Given the description of an element on the screen output the (x, y) to click on. 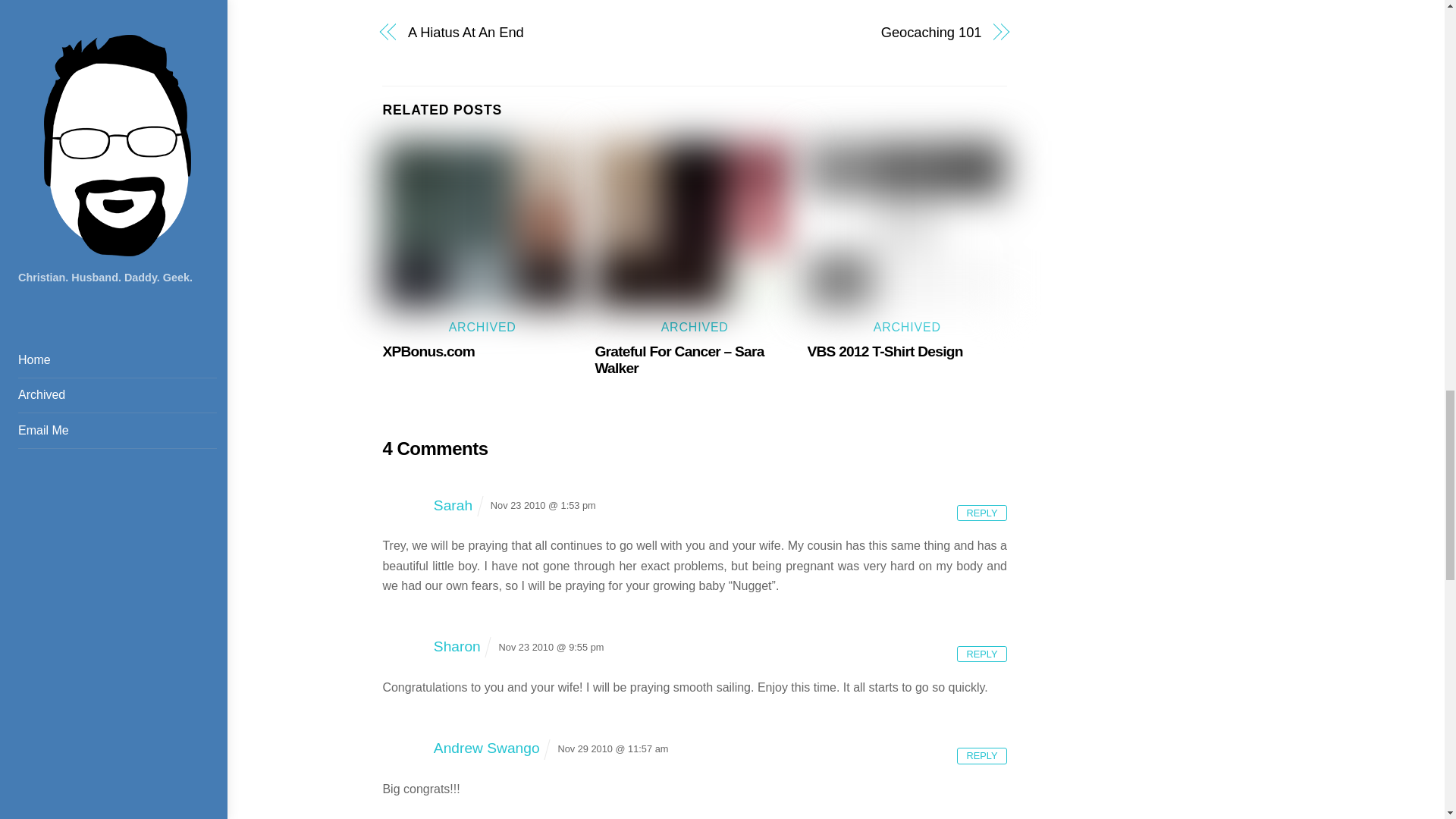
You enter a dank internet blog... (481, 224)
